Given the description of an element on the screen output the (x, y) to click on. 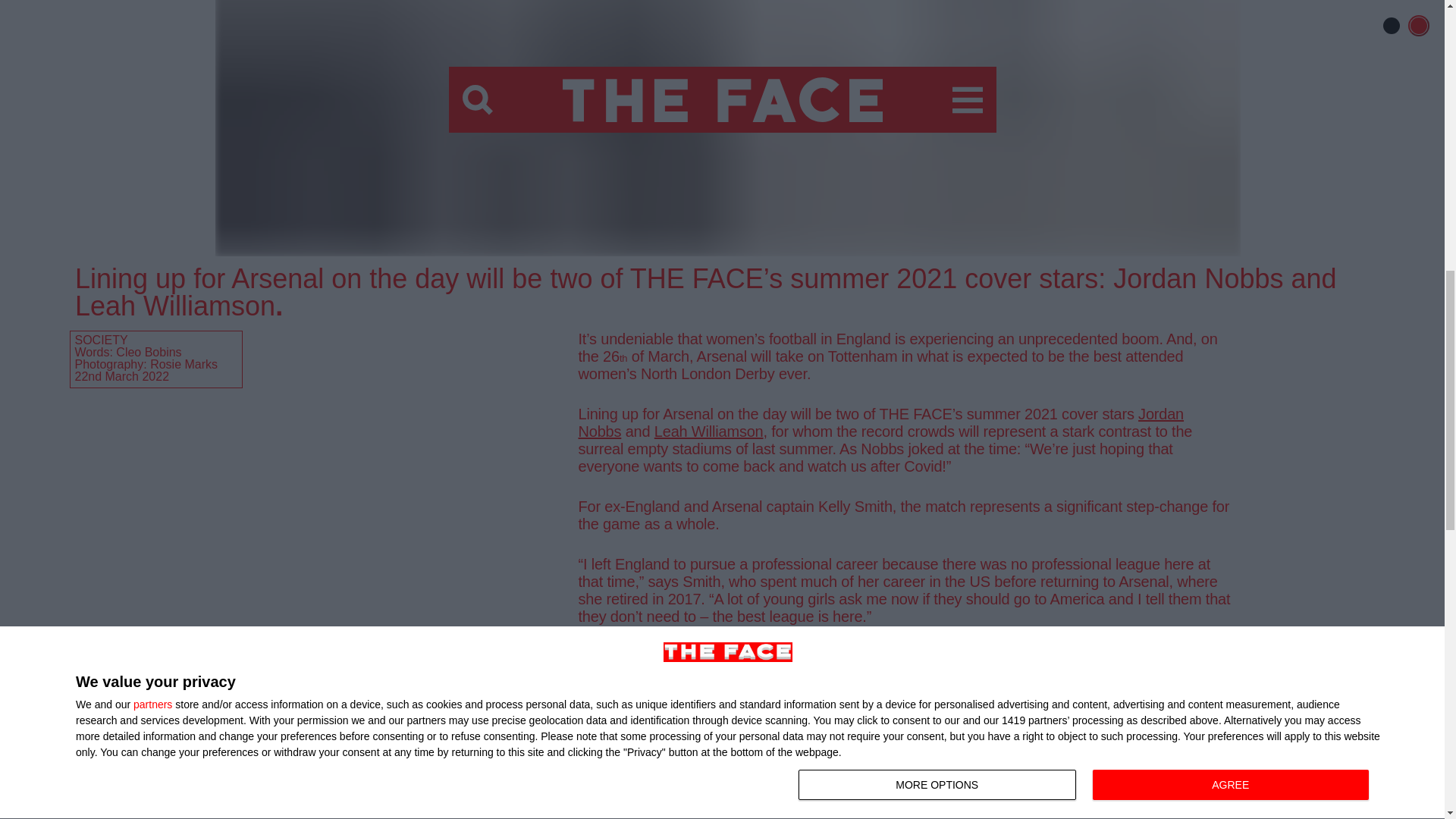
SOCIETY (101, 339)
Cleo Bobins (148, 351)
Rosie Marks (182, 364)
Jordan Nobbs (880, 422)
Leah Williamson (707, 431)
